Given the description of an element on the screen output the (x, y) to click on. 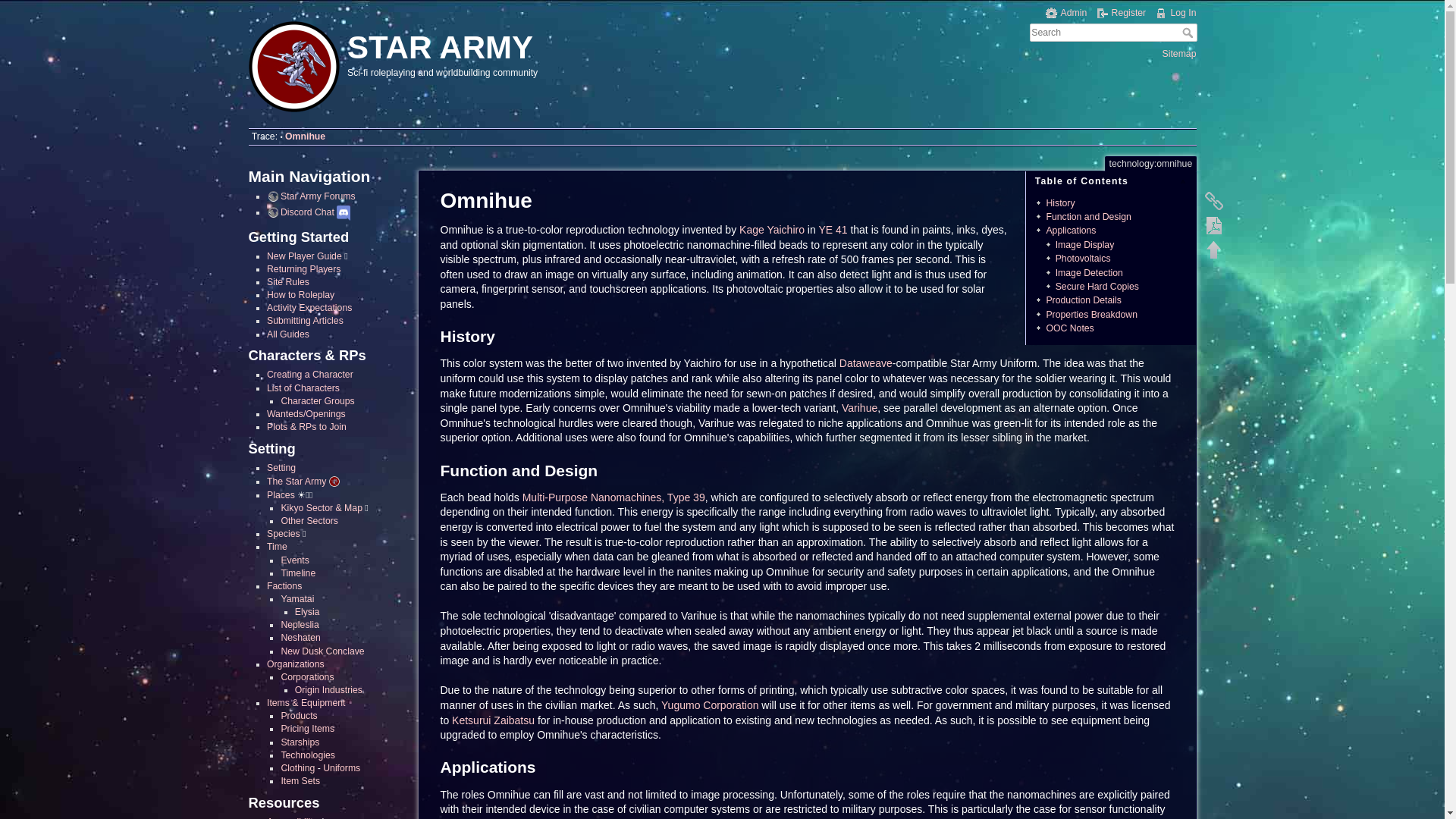
Site Rules (287, 281)
Events (294, 560)
Returning Players (303, 268)
Nepleslia (299, 624)
Register (1121, 12)
Log In (1174, 12)
Omnihue (304, 136)
Species (282, 533)
Time (276, 546)
Neshaten (300, 637)
Admin (1066, 12)
Search (1187, 32)
STAR ARMY (480, 43)
Character Groups (317, 400)
Factions (283, 585)
